Given the description of an element on the screen output the (x, y) to click on. 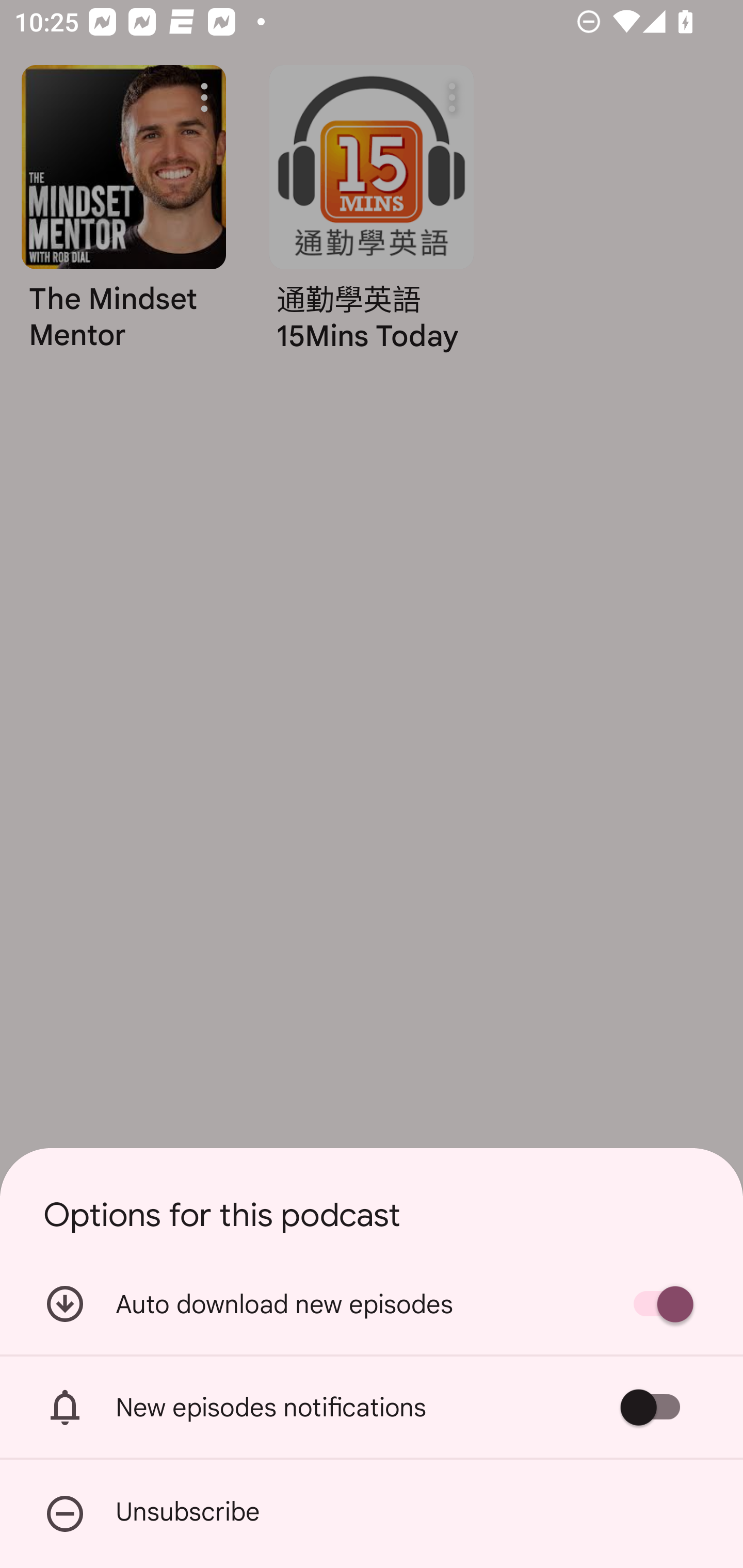
Auto download new episodes (371, 1303)
New episodes notifications (371, 1407)
Unsubscribe (371, 1513)
